Given the description of an element on the screen output the (x, y) to click on. 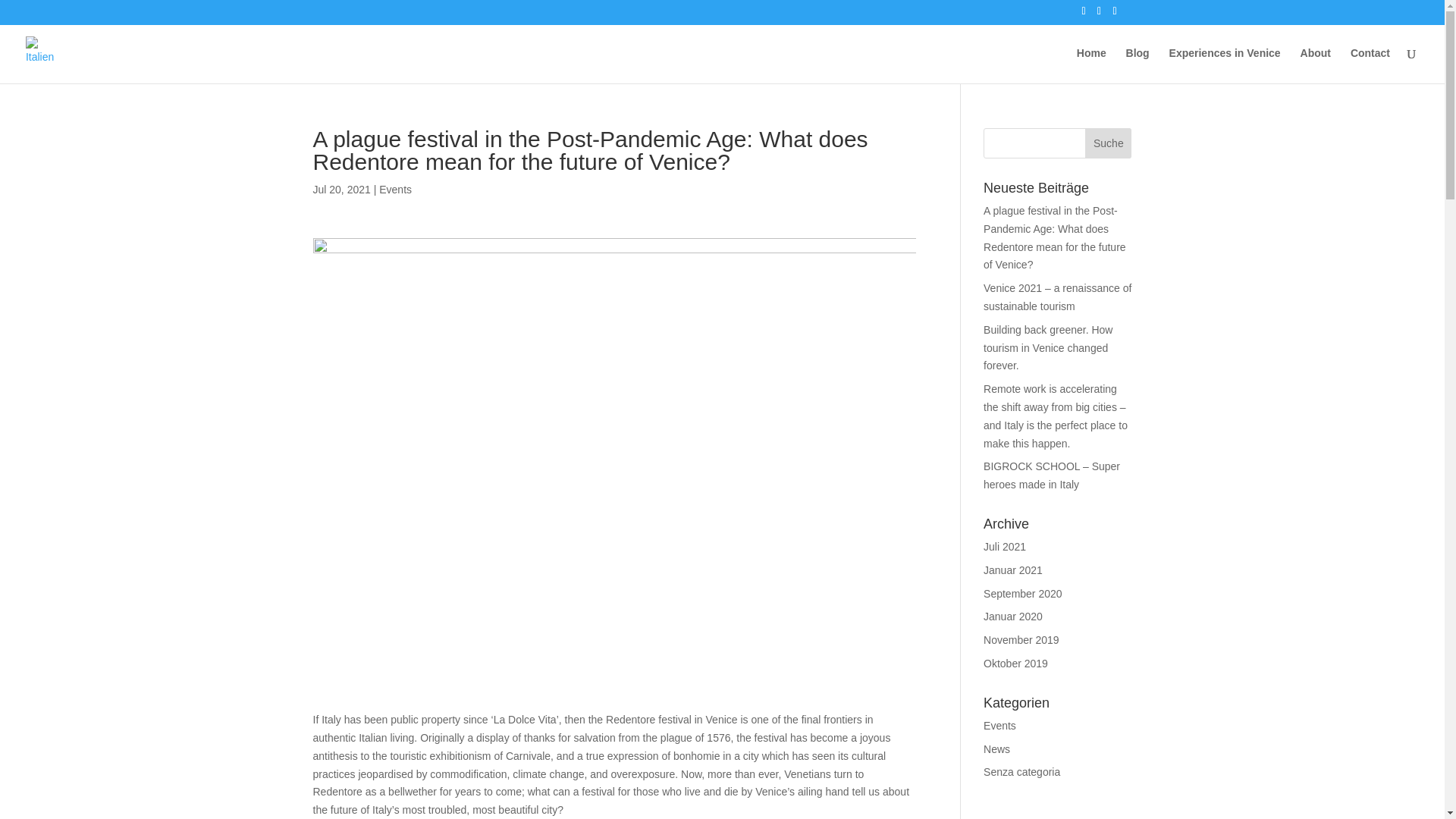
Experiences in Venice (1225, 65)
News (997, 748)
Senza categoria (1021, 771)
Suche (1107, 142)
Events (1000, 725)
Juli 2021 (1005, 546)
Januar 2021 (1013, 570)
Suche (1107, 142)
